Given the description of an element on the screen output the (x, y) to click on. 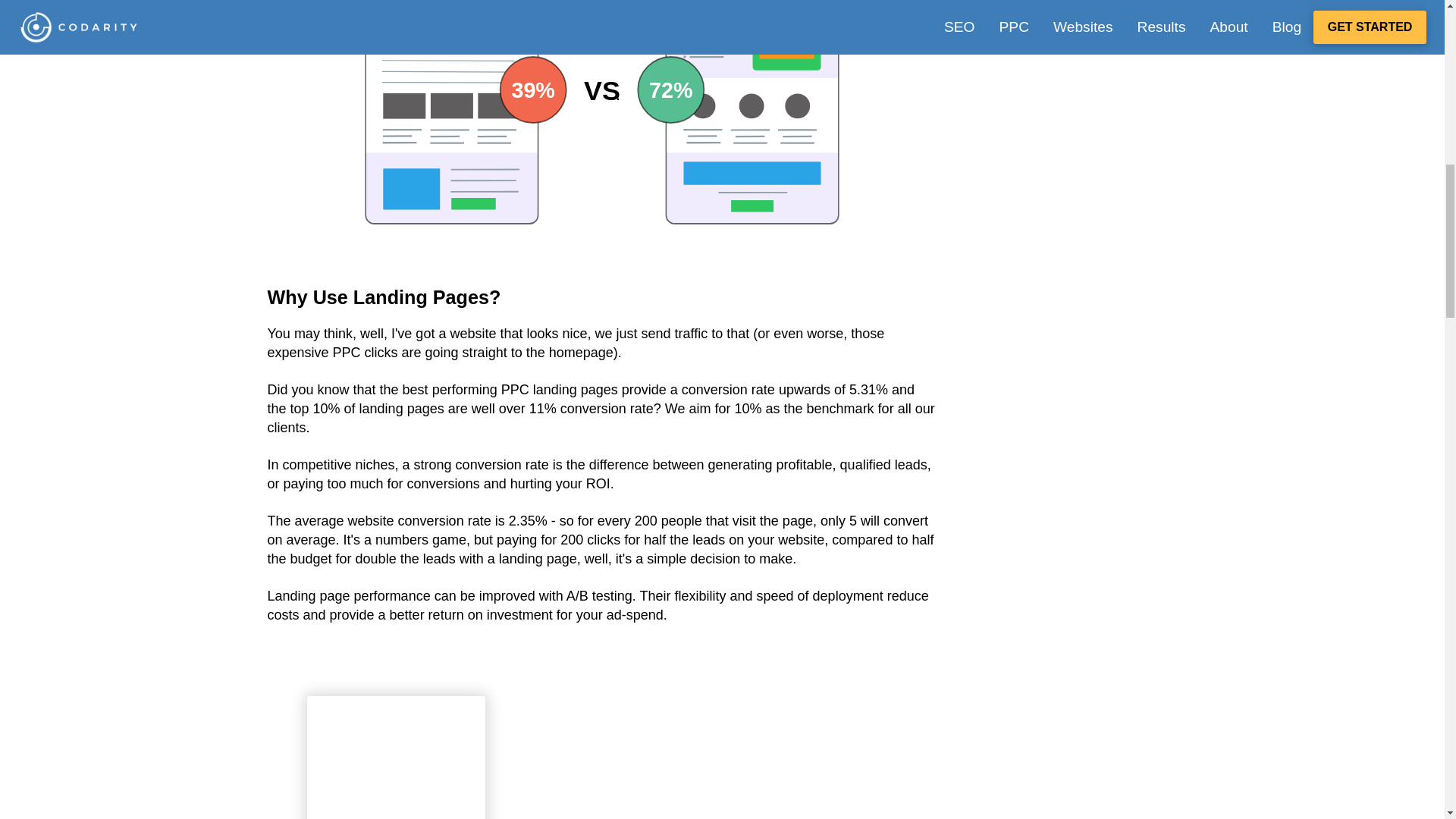
Landing Pages 3 (396, 760)
